Given the description of an element on the screen output the (x, y) to click on. 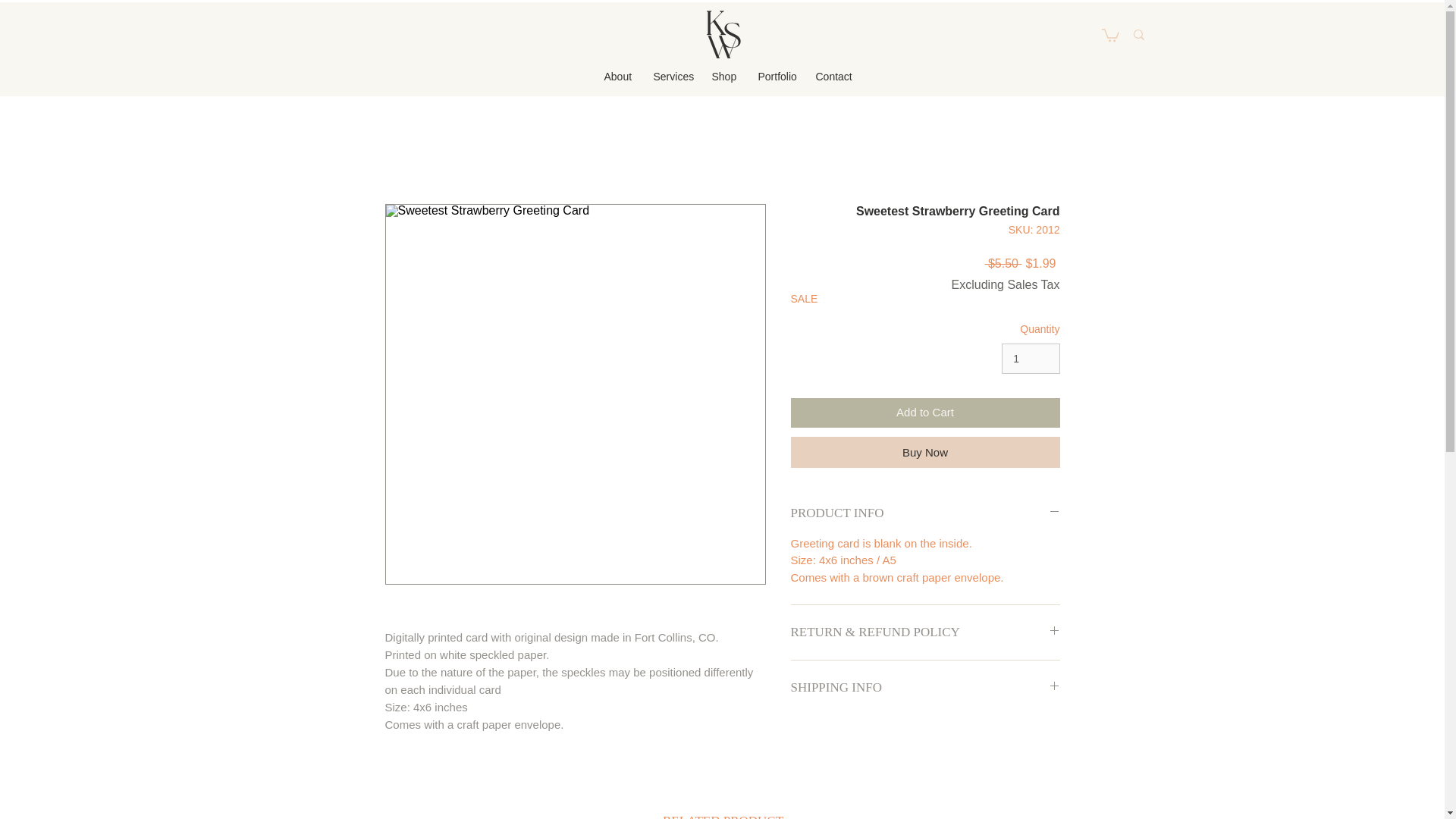
SHIPPING INFO (924, 687)
About (617, 76)
Buy Now (924, 451)
Services (671, 76)
Portfolio (774, 76)
PRODUCT INFO (924, 513)
Shop (723, 76)
1 (1030, 358)
Contact (832, 76)
Add to Cart (924, 412)
